Given the description of an element on the screen output the (x, y) to click on. 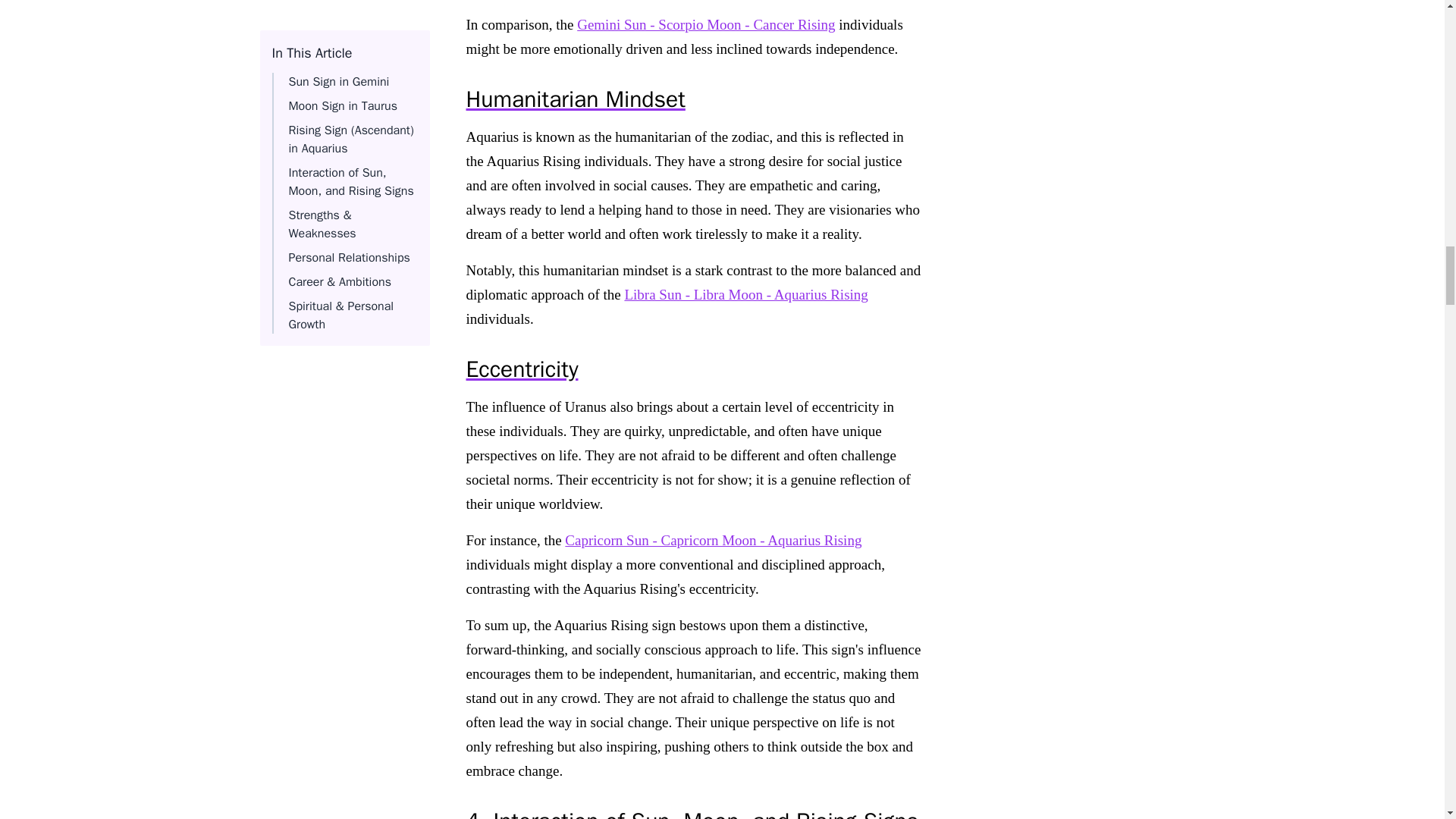
Capricorn Sun - Capricorn Moon - Aquarius Rising (712, 539)
Libra Sun - Libra Moon - Aquarius Rising (745, 294)
Gemini Sun - Scorpio Moon - Cancer Rising (705, 24)
